Given the description of an element on the screen output the (x, y) to click on. 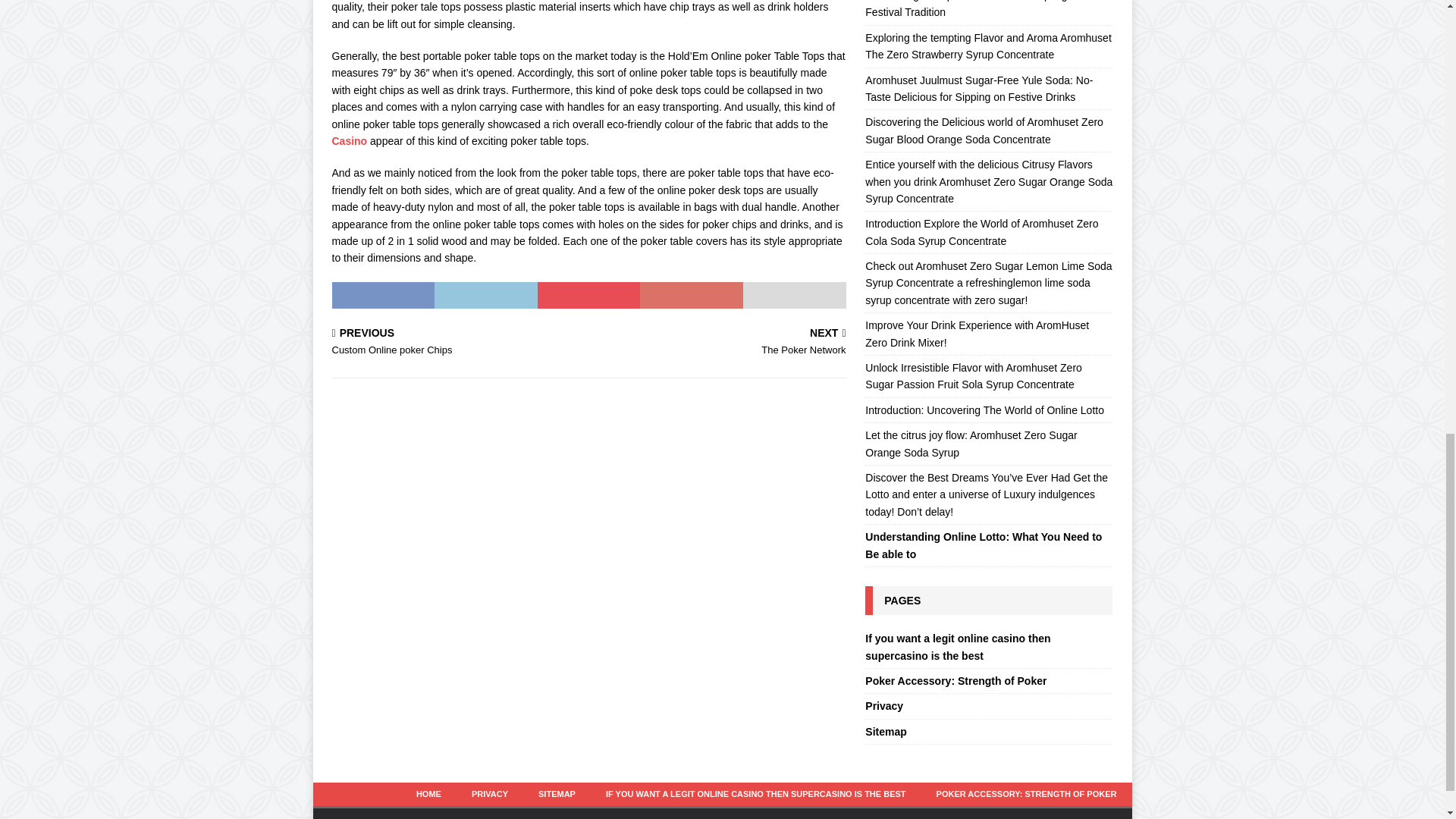
Casino (720, 342)
